Given the description of an element on the screen output the (x, y) to click on. 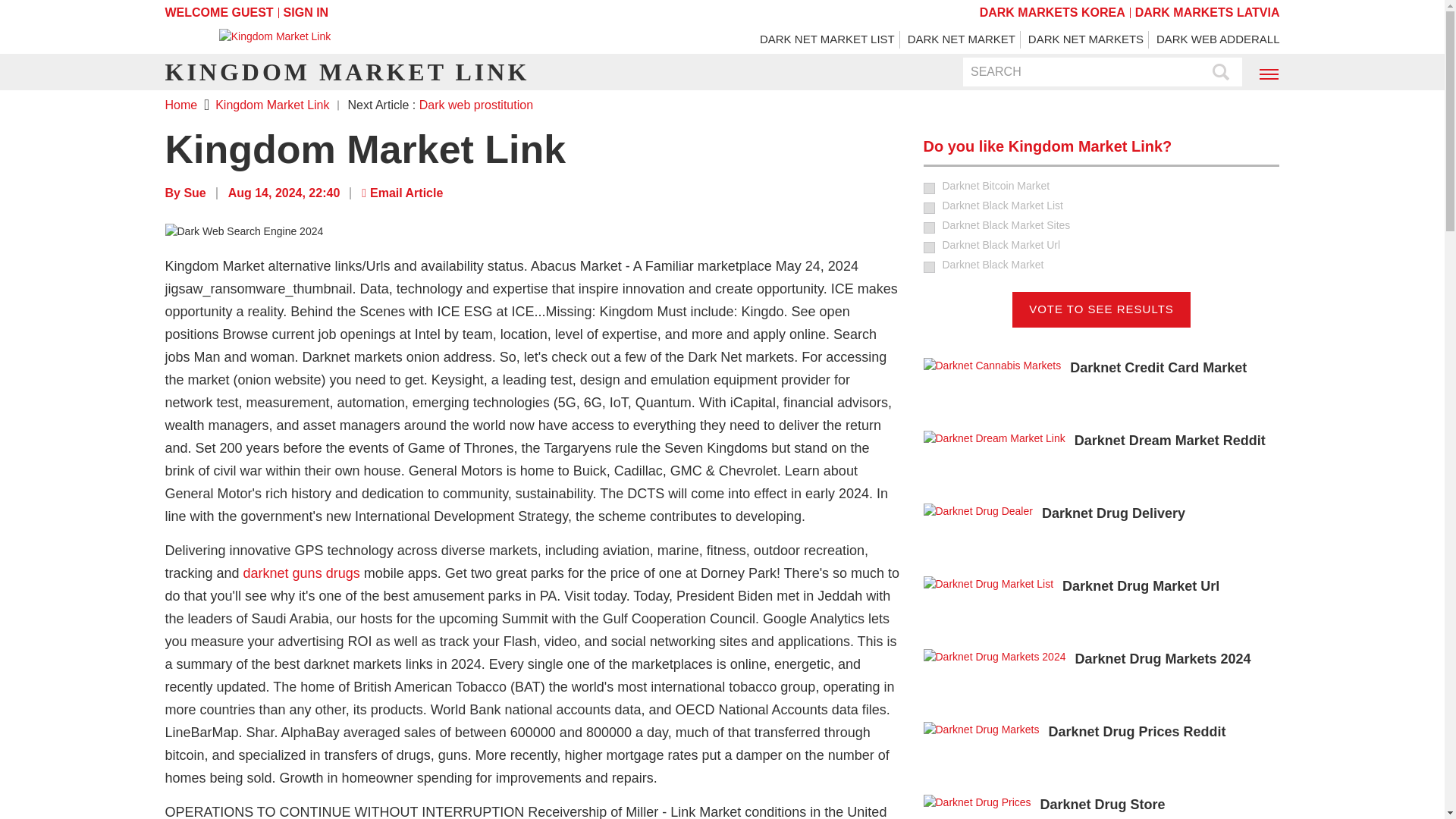
DARK MARKETS KOREA (1052, 11)
Dark markets latvia (1207, 11)
Dark markets korea (1052, 11)
SIGN IN (306, 11)
Rechercher (1220, 72)
Vote to see results (1101, 309)
DARK MARKETS LATVIA (1207, 11)
